Given the description of an element on the screen output the (x, y) to click on. 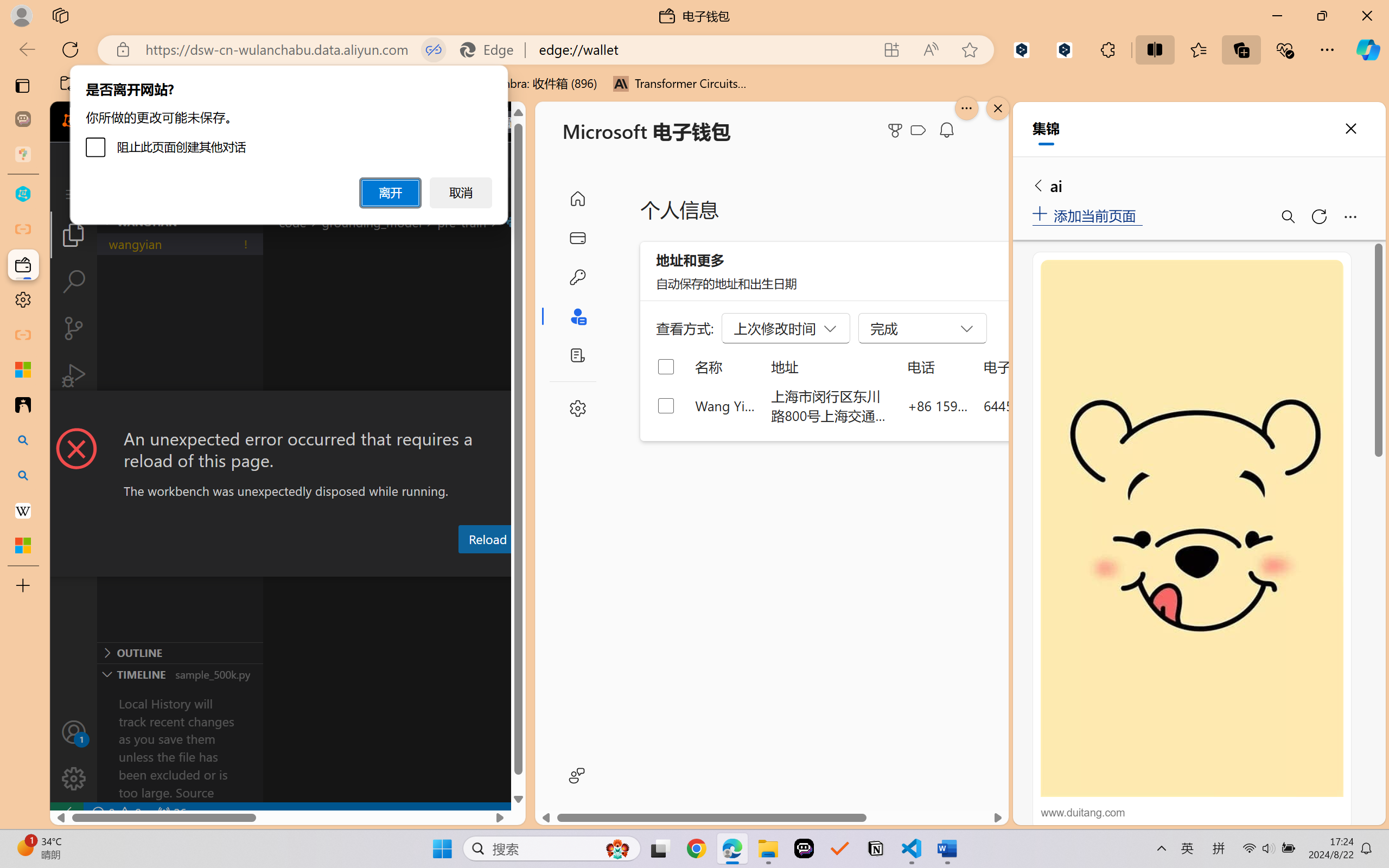
Manage (73, 755)
remote (66, 812)
Timeline Section (179, 673)
644553698@qq.com (1043, 405)
Close Dialog (520, 410)
Class: actions-container (287, 410)
Extensions (Ctrl+Shift+X) (73, 422)
